Given the description of an element on the screen output the (x, y) to click on. 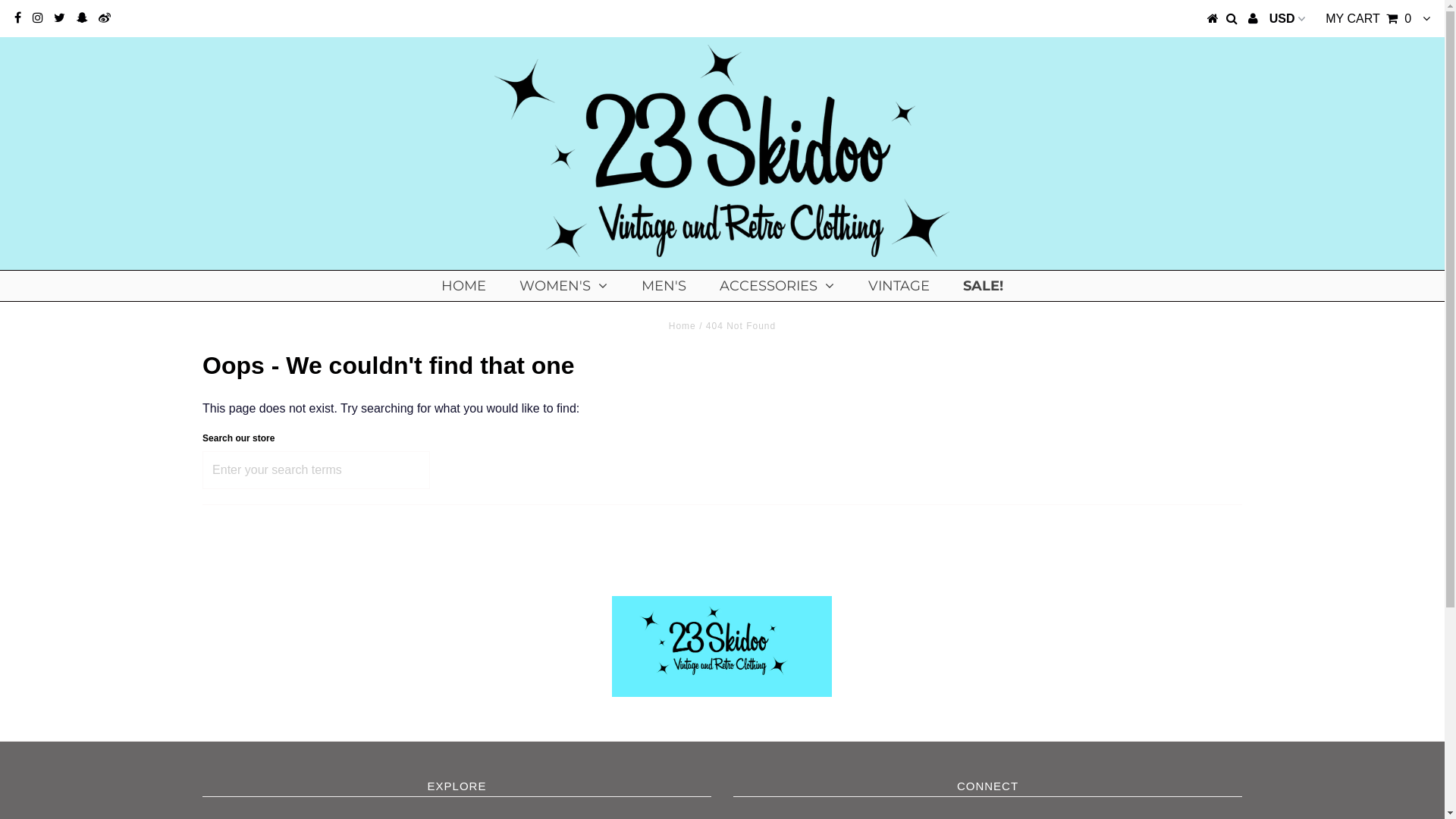
MEN'S Element type: text (663, 285)
HOME Element type: text (463, 285)
SALE! Element type: text (982, 285)
MY CART    0 Element type: text (1368, 18)
WOMEN'S Element type: text (563, 285)
Home Element type: text (682, 325)
VINTAGE Element type: text (898, 285)
ACCESSORIES Element type: text (776, 285)
